Given the description of an element on the screen output the (x, y) to click on. 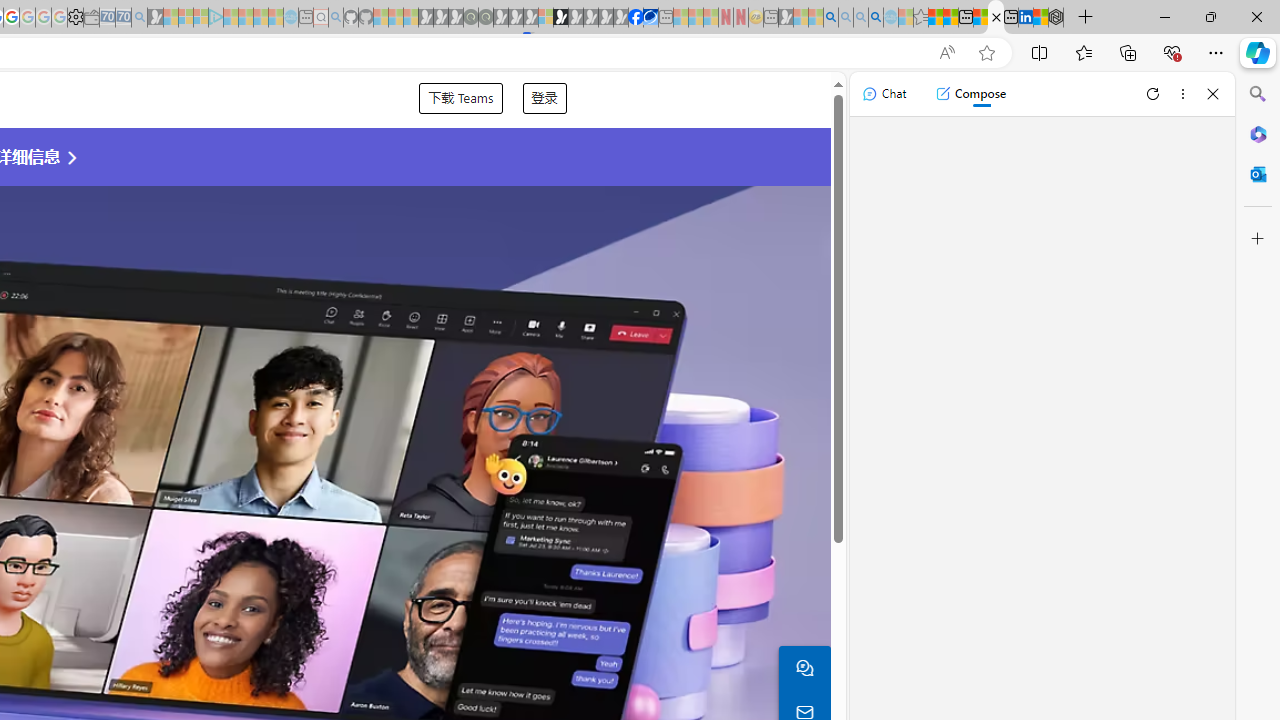
LinkedIn (1025, 17)
Nordace - Summer Adventures 2024 (1055, 17)
Compose (970, 93)
